Given the description of an element on the screen output the (x, y) to click on. 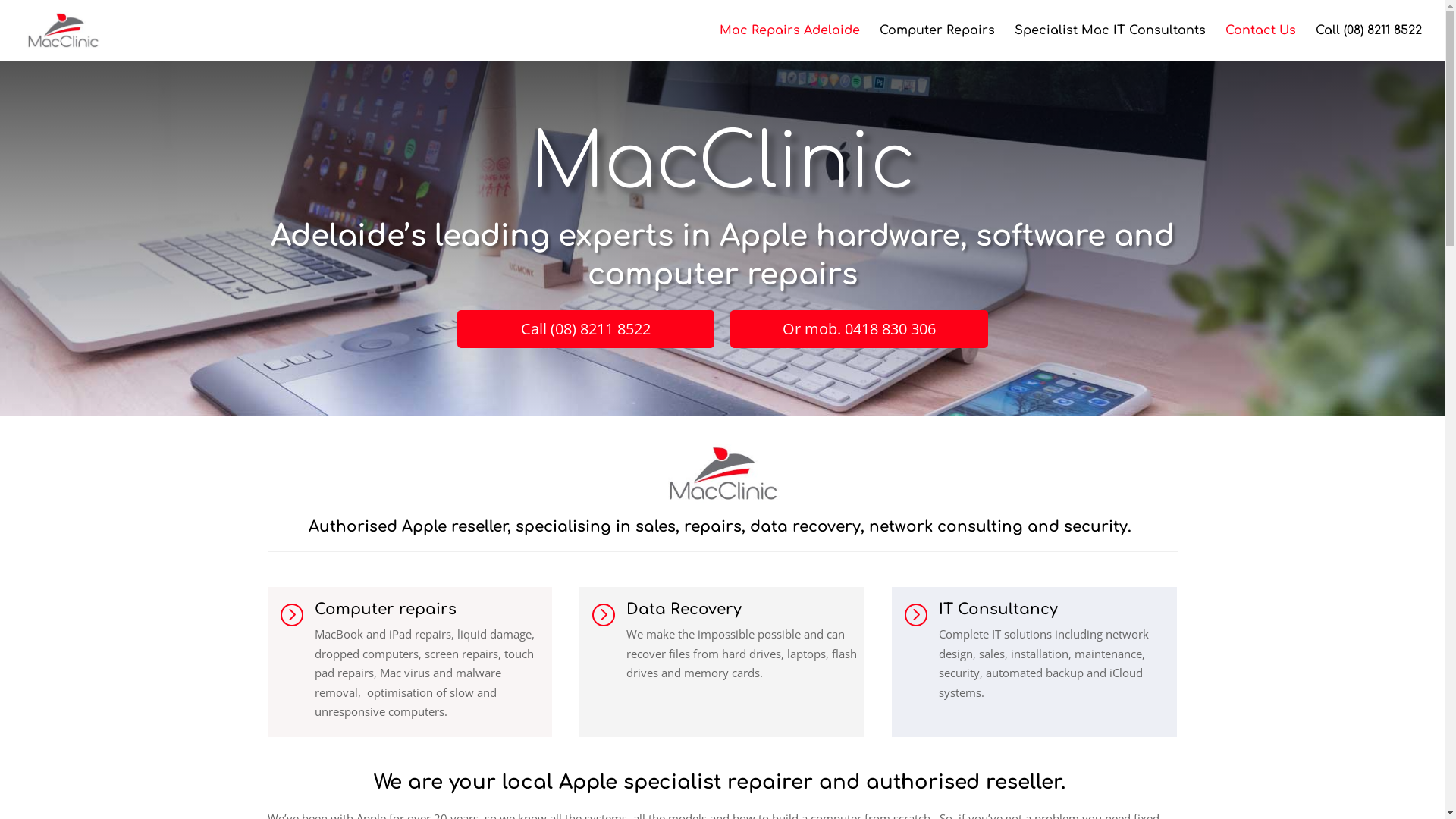
Computer Repairs Element type: text (936, 42)
Specialist Mac IT Consultants Element type: text (1109, 42)
Or mob. 0418 830 306 Element type: text (858, 329)
Mac Repairs Adelaide Element type: text (789, 42)
Call (08) 8211 8522 Element type: text (1368, 42)
Call (08) 8211 8522 Element type: text (585, 329)
Contact Us Element type: text (1260, 42)
